Given the description of an element on the screen output the (x, y) to click on. 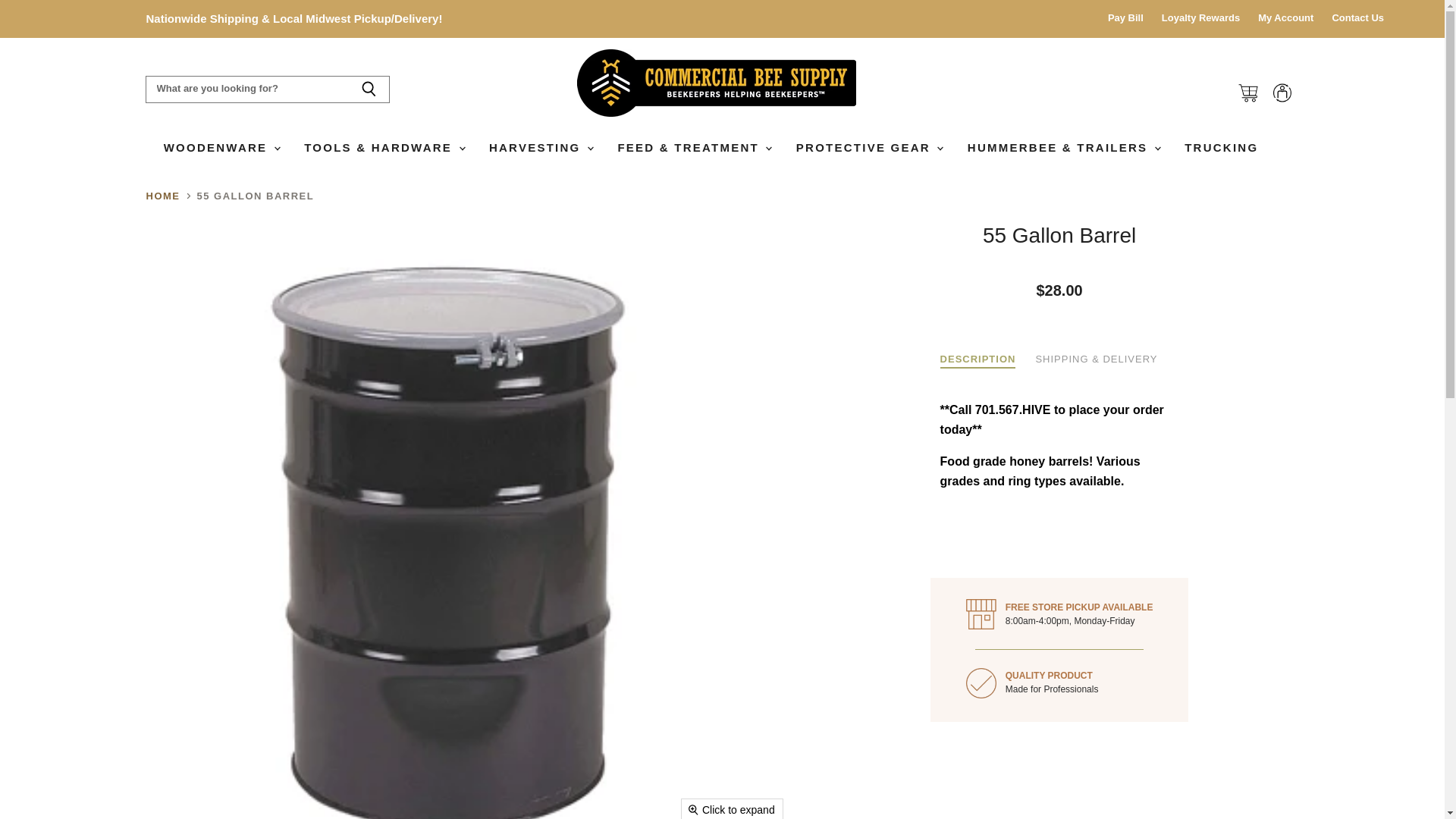
Loyalty Rewards (1200, 18)
My Account (1285, 18)
Contact Us (1358, 18)
WOODENWARE (220, 147)
HARVESTING (539, 147)
View account (1281, 93)
View cart (1247, 93)
Pay Bill (1125, 18)
